Given the description of an element on the screen output the (x, y) to click on. 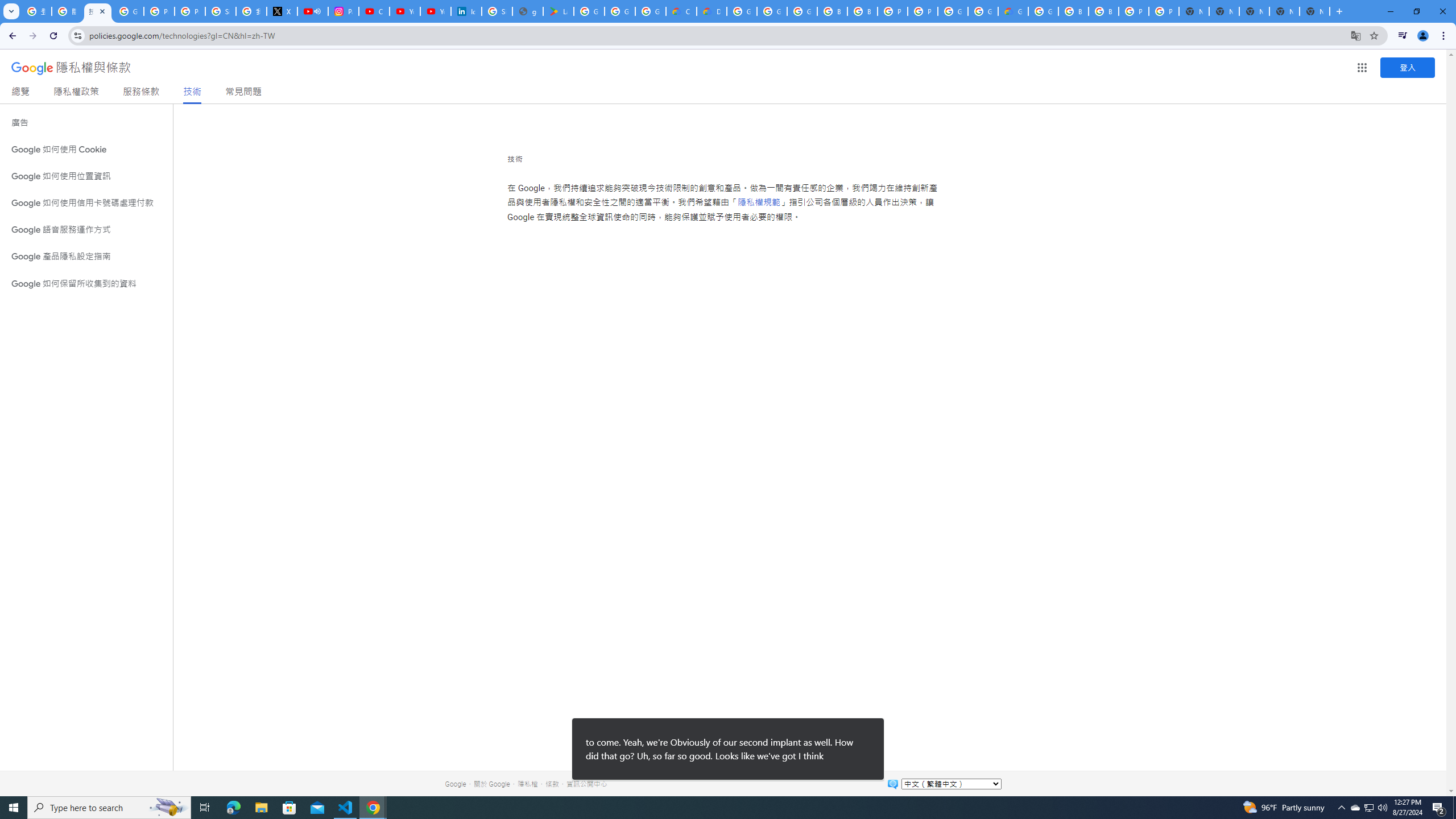
Browse Chrome as a guest - Computer - Google Chrome Help (832, 11)
Sign in - Google Accounts (220, 11)
Google Cloud Platform (952, 11)
Google Cloud Estimate Summary (1012, 11)
